Given the description of an element on the screen output the (x, y) to click on. 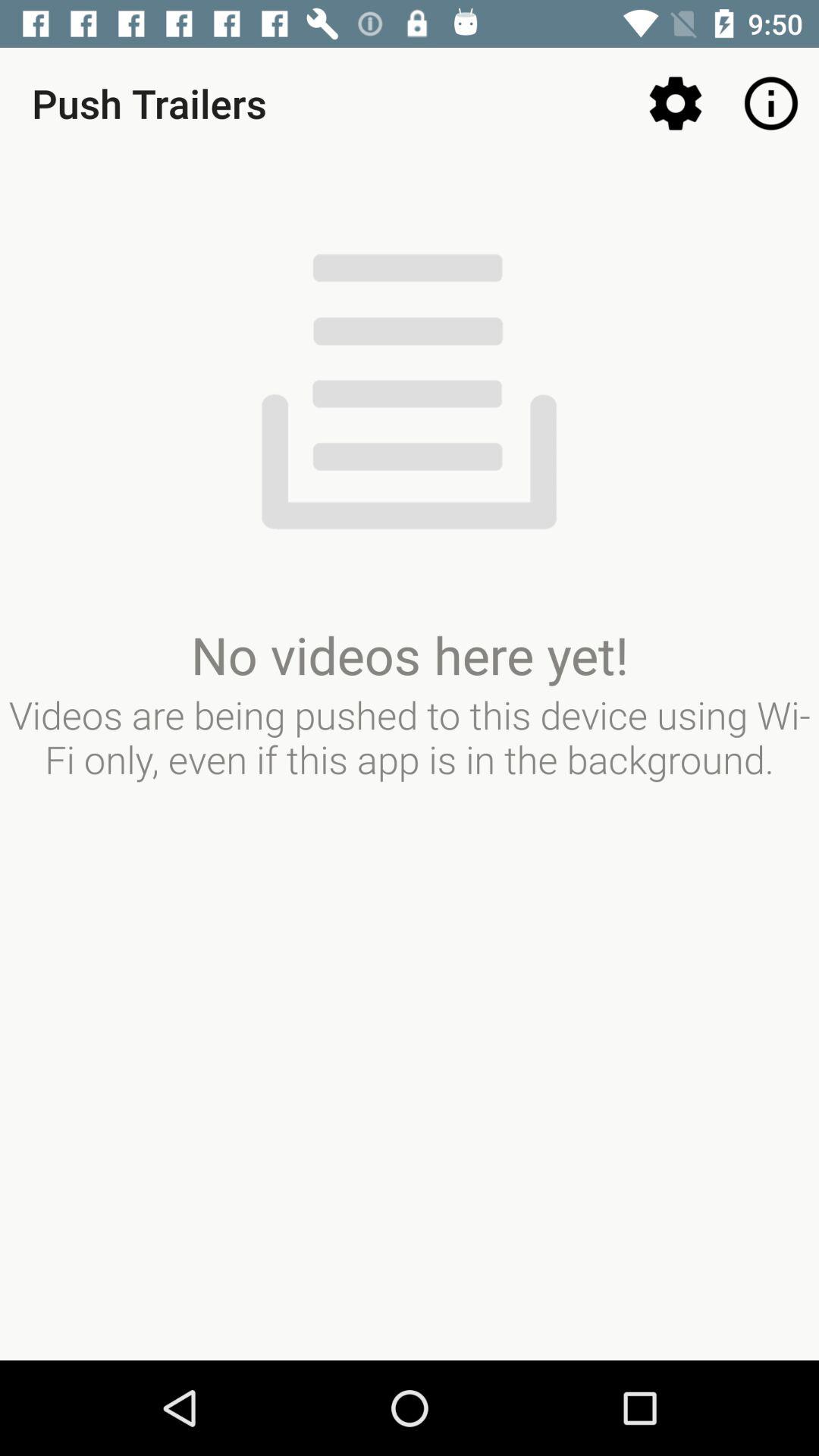
turn on the item to the right of push trailers item (675, 103)
